Given the description of an element on the screen output the (x, y) to click on. 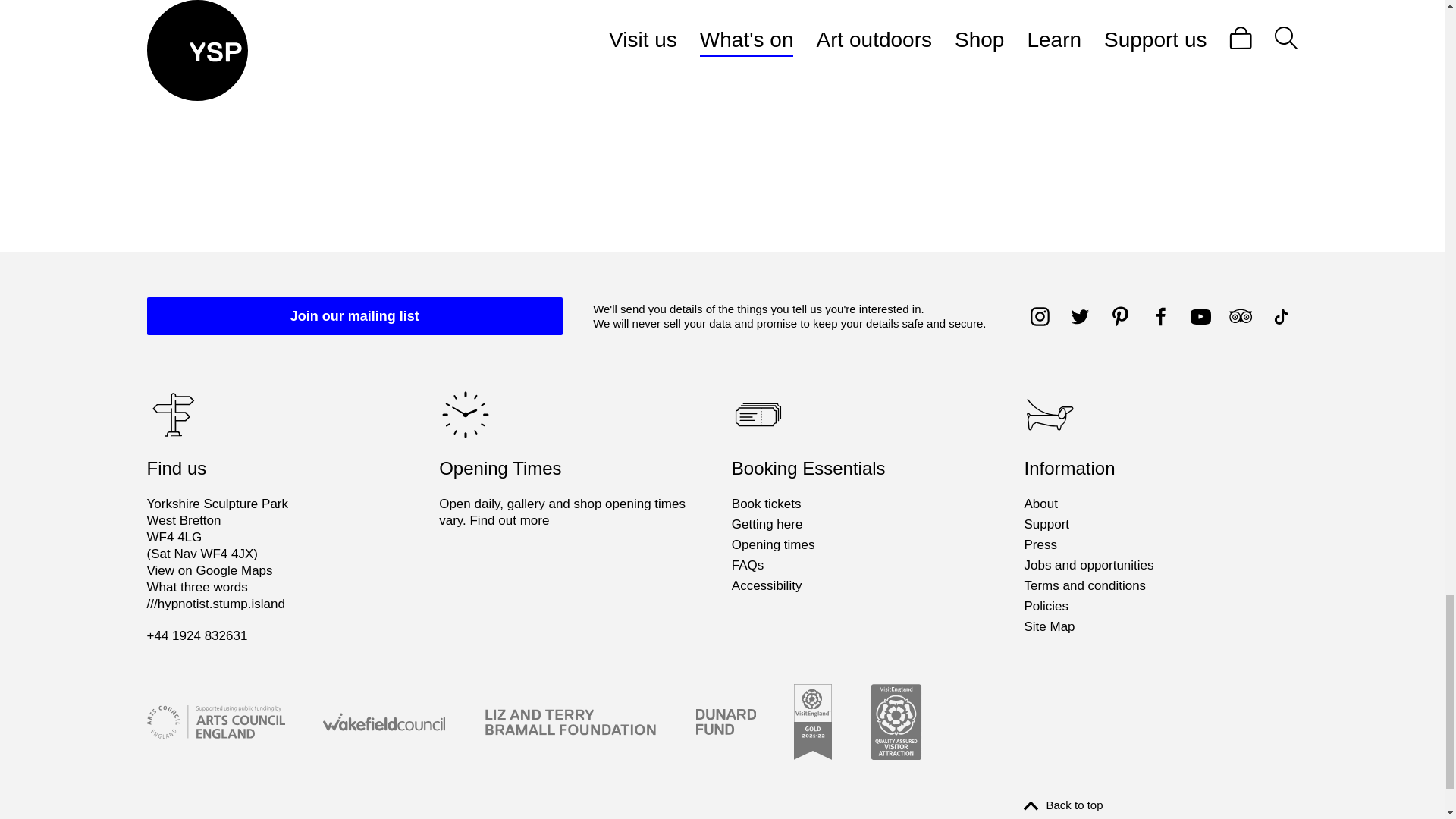
Instagram (1040, 316)
Terms and conditions (1084, 586)
Support (1045, 524)
Policies (1045, 606)
Site Map (1048, 627)
Twitter (1080, 316)
Getting here (767, 524)
Find out more (508, 520)
Opening times (773, 545)
Accessibility (767, 586)
